Given the description of an element on the screen output the (x, y) to click on. 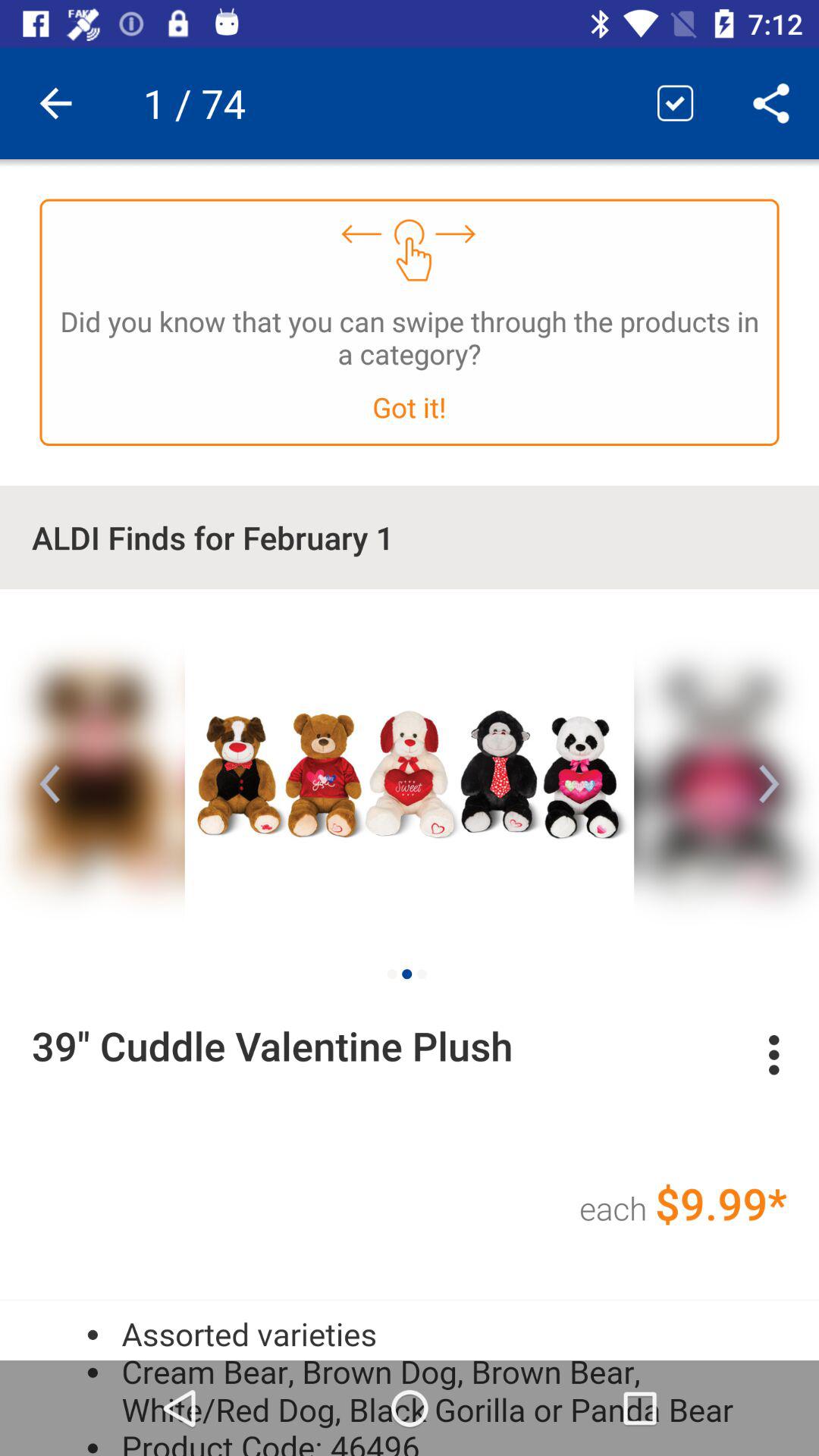
fullscreen images (409, 771)
